Given the description of an element on the screen output the (x, y) to click on. 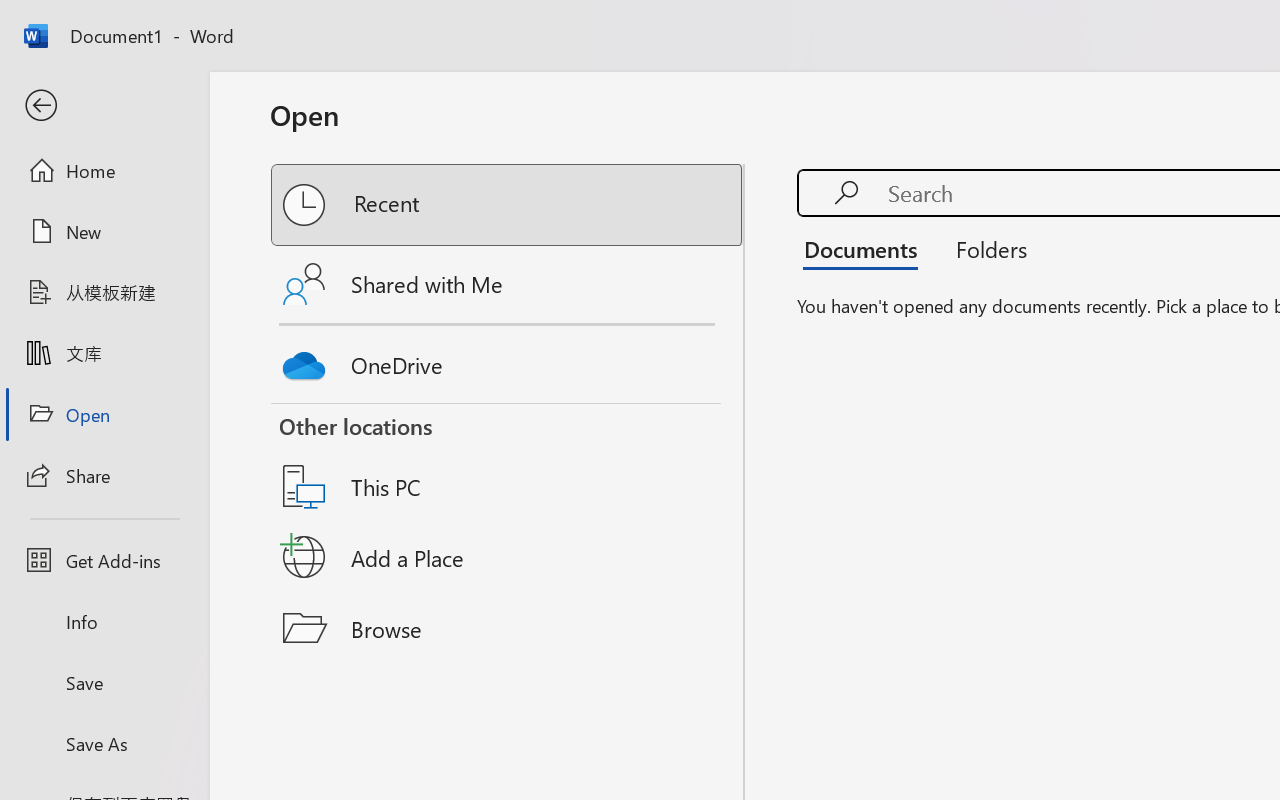
Back (104, 106)
New (104, 231)
Add a Place (507, 557)
OneDrive (507, 359)
